Given the description of an element on the screen output the (x, y) to click on. 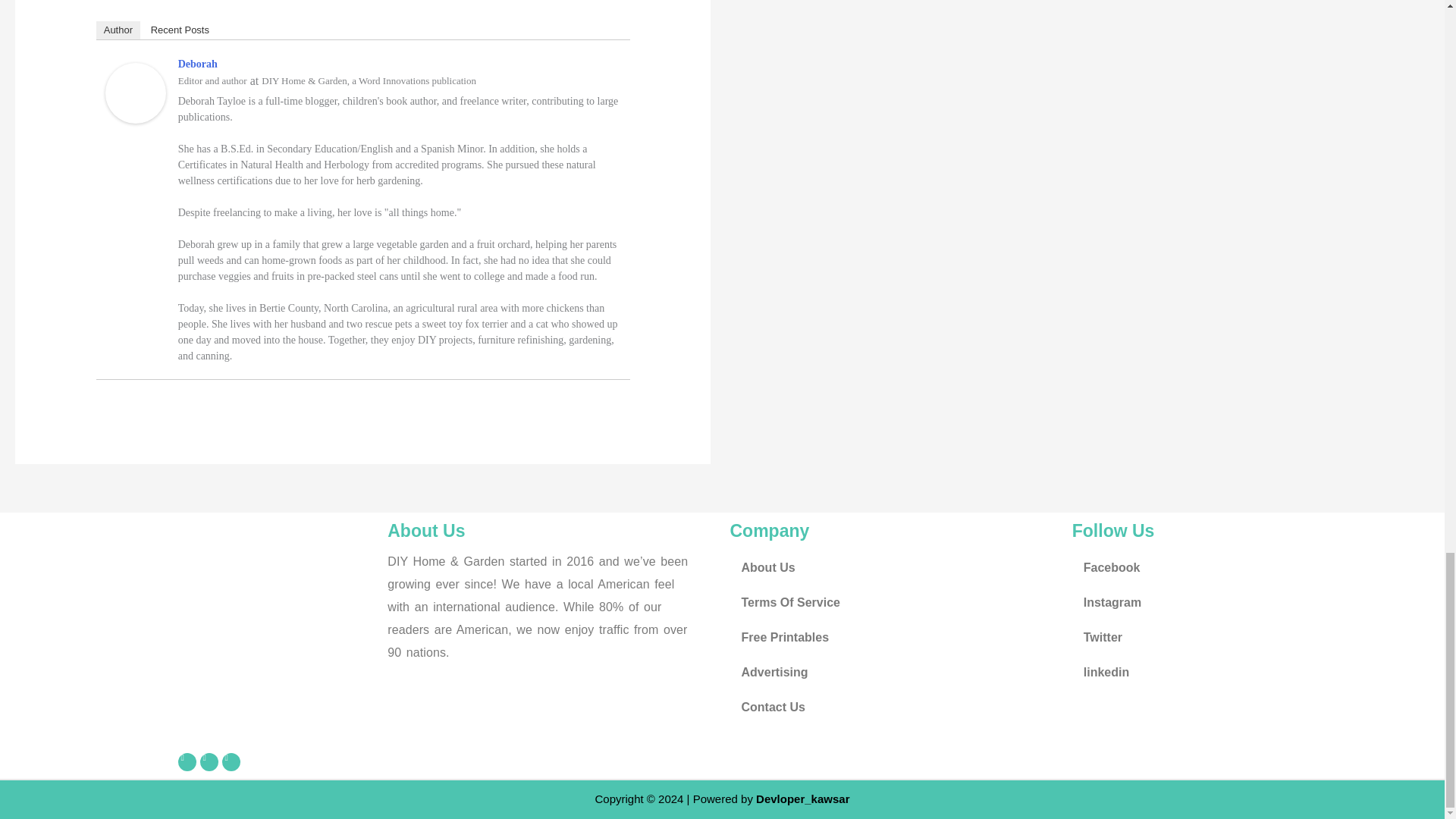
Contact Us (893, 707)
Twitter (1235, 637)
Instagram (1235, 602)
About Us (893, 567)
Advertising (893, 672)
Terms Of Service (893, 602)
Free Printables (893, 637)
Deborah (134, 91)
Author (117, 30)
Facebook-f (186, 761)
Deborah (196, 63)
Facebook (1235, 567)
Recent Posts (179, 30)
Twitter (209, 761)
Youtube (231, 761)
